Given the description of an element on the screen output the (x, y) to click on. 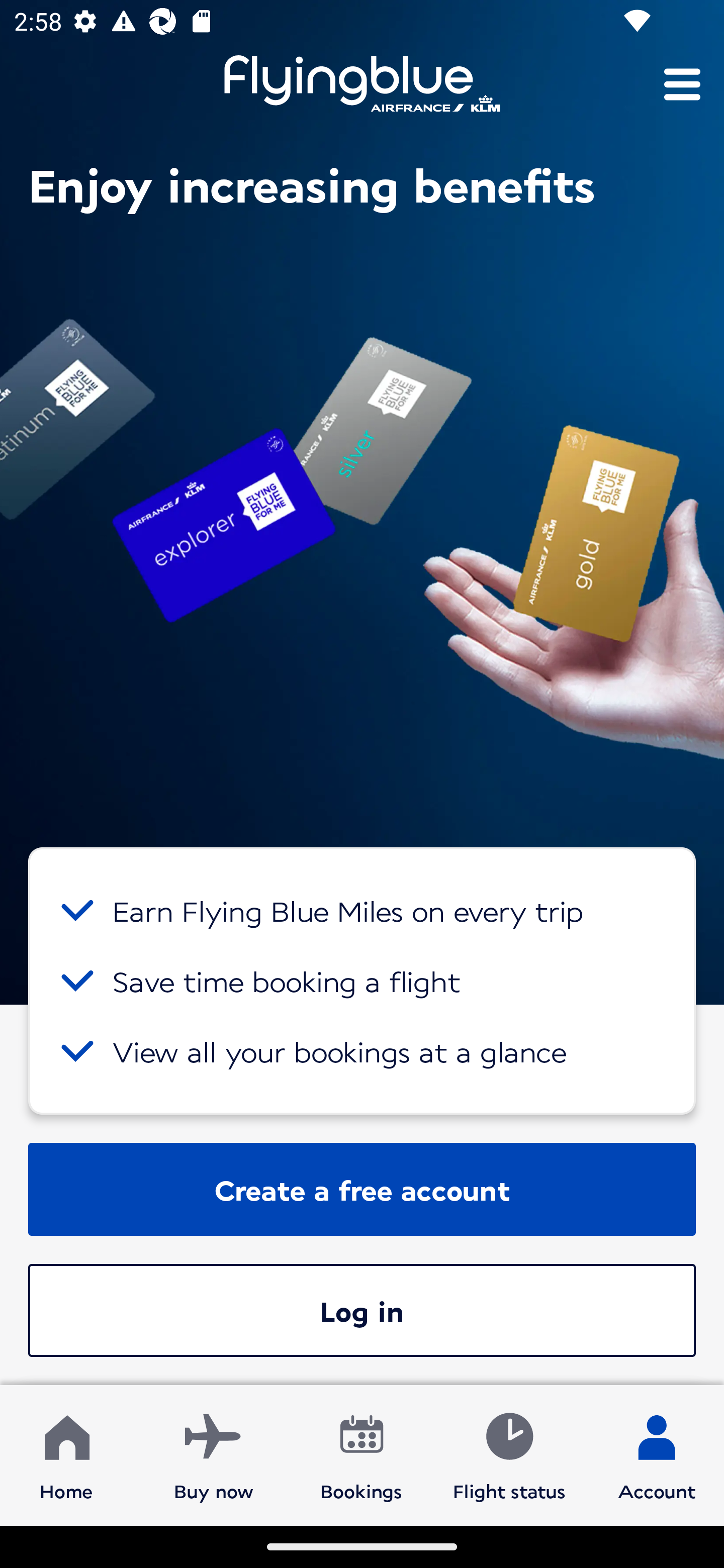
Create a free account (361, 1189)
Log in (361, 1309)
Home (66, 1454)
Buy now (213, 1454)
Bookings (361, 1454)
Flight status (509, 1454)
